Given the description of an element on the screen output the (x, y) to click on. 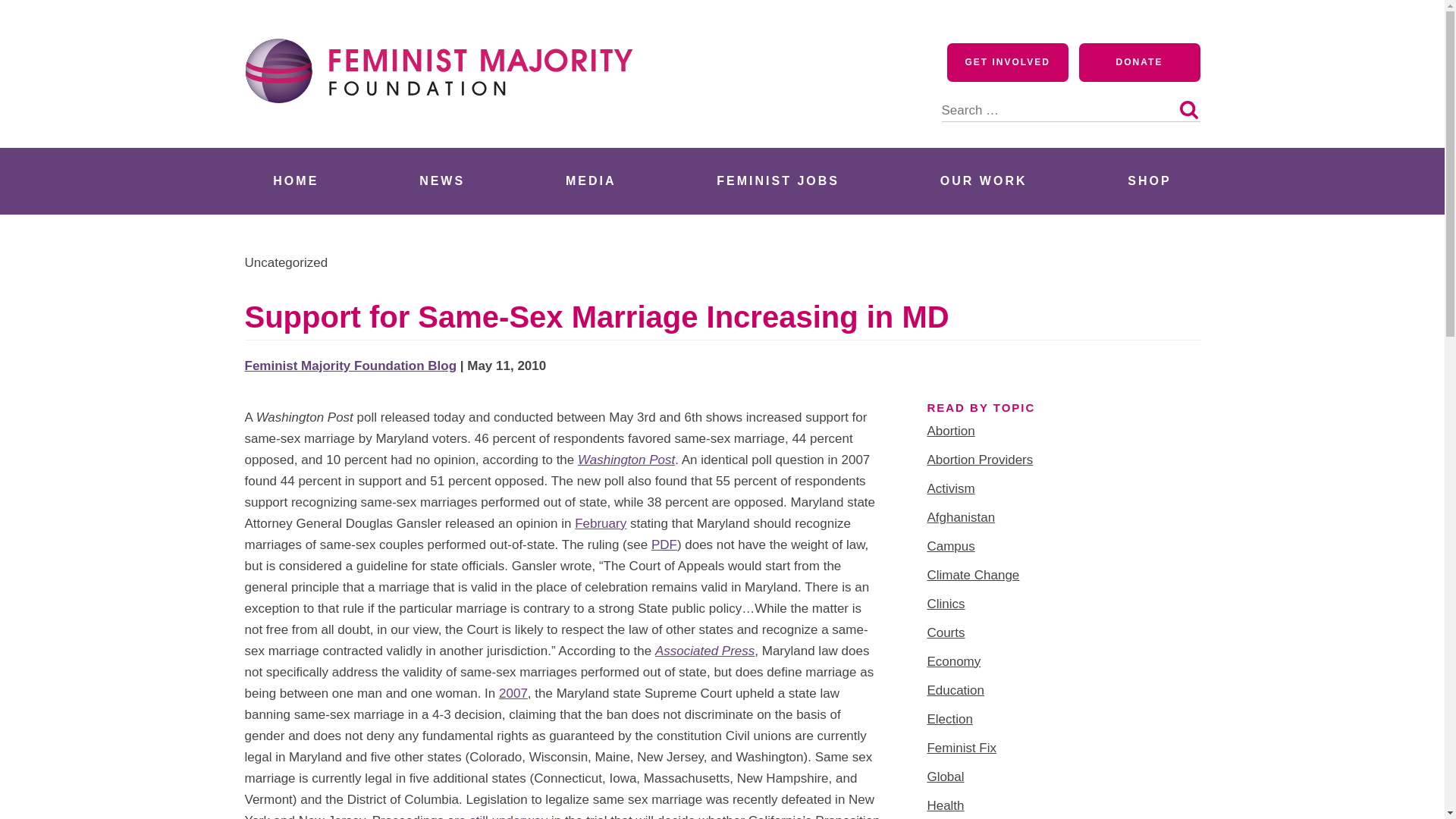
Search for: (1070, 101)
SHOP (1149, 181)
Feminist Majority Foundation (445, 130)
NEWS (441, 181)
Search (1187, 109)
FEMINIST JOBS (777, 181)
Posts by Feminist Majority Foundation Blog (350, 365)
OUR WORK (983, 181)
Feminist Majority Foundation Blog (350, 365)
Activism (950, 488)
